Given the description of an element on the screen output the (x, y) to click on. 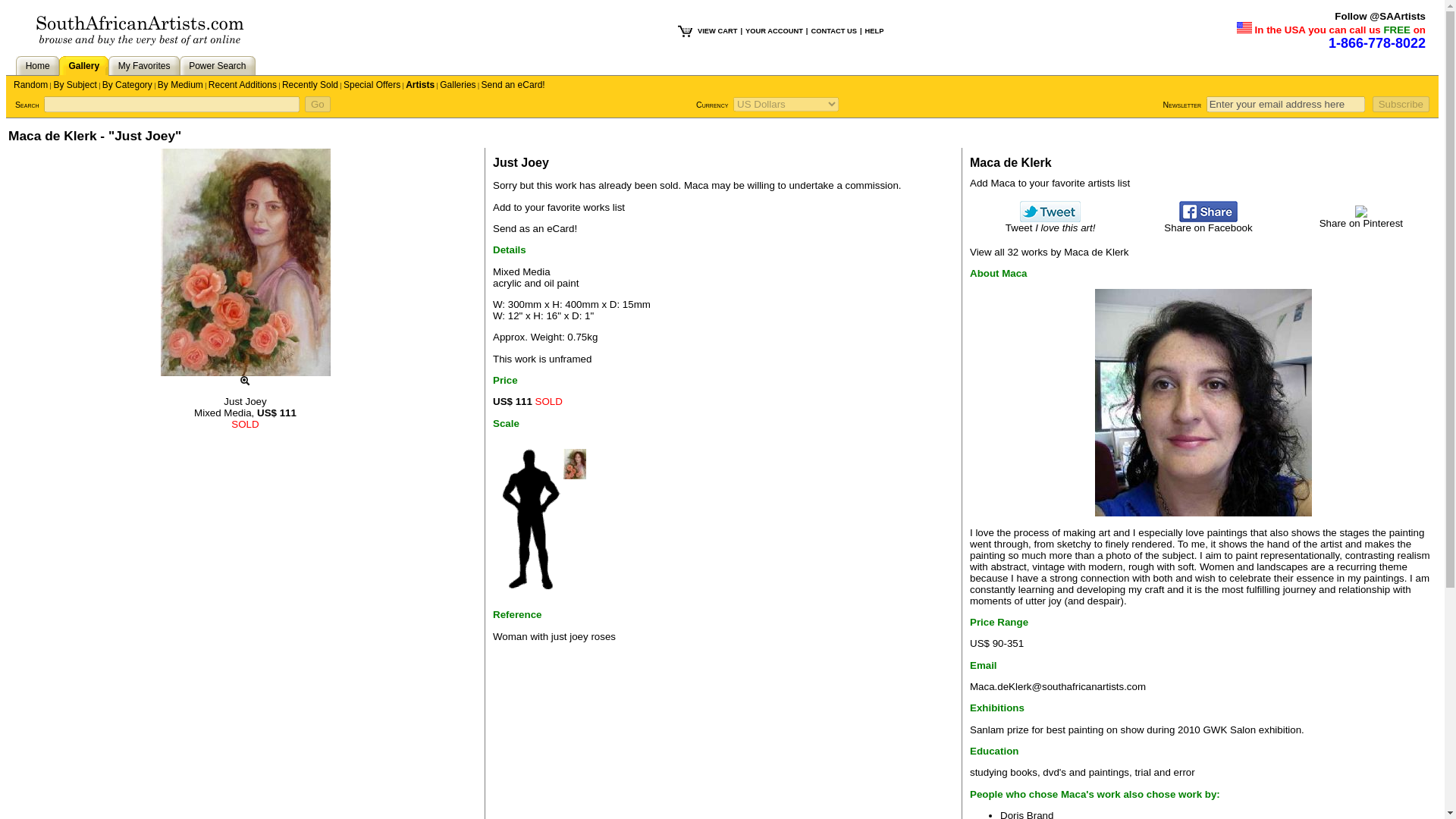
Maca de Klerk (1010, 162)
Power Search (217, 65)
Maca de Klerk (1202, 402)
Add to your favorite works list (558, 206)
By Subject (74, 84)
Galleries (457, 84)
View Large Image (245, 380)
CONTACT US (833, 31)
Maca (696, 184)
Gallery (83, 65)
Enter your email address here (1286, 104)
Add Maca to your favorite artists list (1049, 183)
My Favorites (143, 65)
SouthAfricanArtists.com (140, 31)
Subscribe (1401, 104)
